Given the description of an element on the screen output the (x, y) to click on. 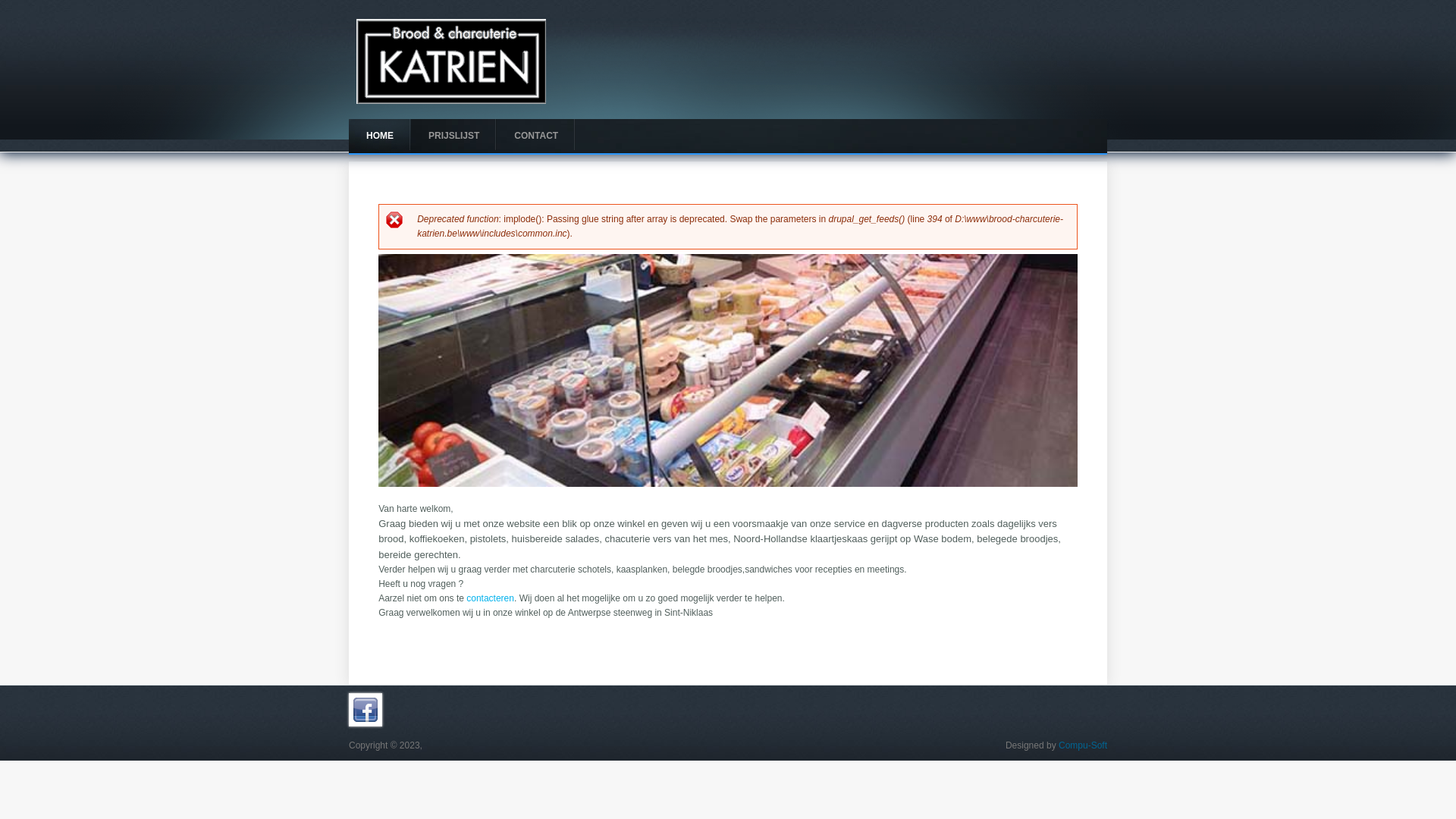
Compu-Soft Element type: text (1082, 745)
CONTACT Element type: text (535, 136)
PRIJSLIJST Element type: text (453, 136)
Visit  on Facebook Element type: hover (365, 723)
Home Element type: hover (451, 100)
HOME Element type: text (379, 136)
contacteren Element type: text (490, 598)
